Given the description of an element on the screen output the (x, y) to click on. 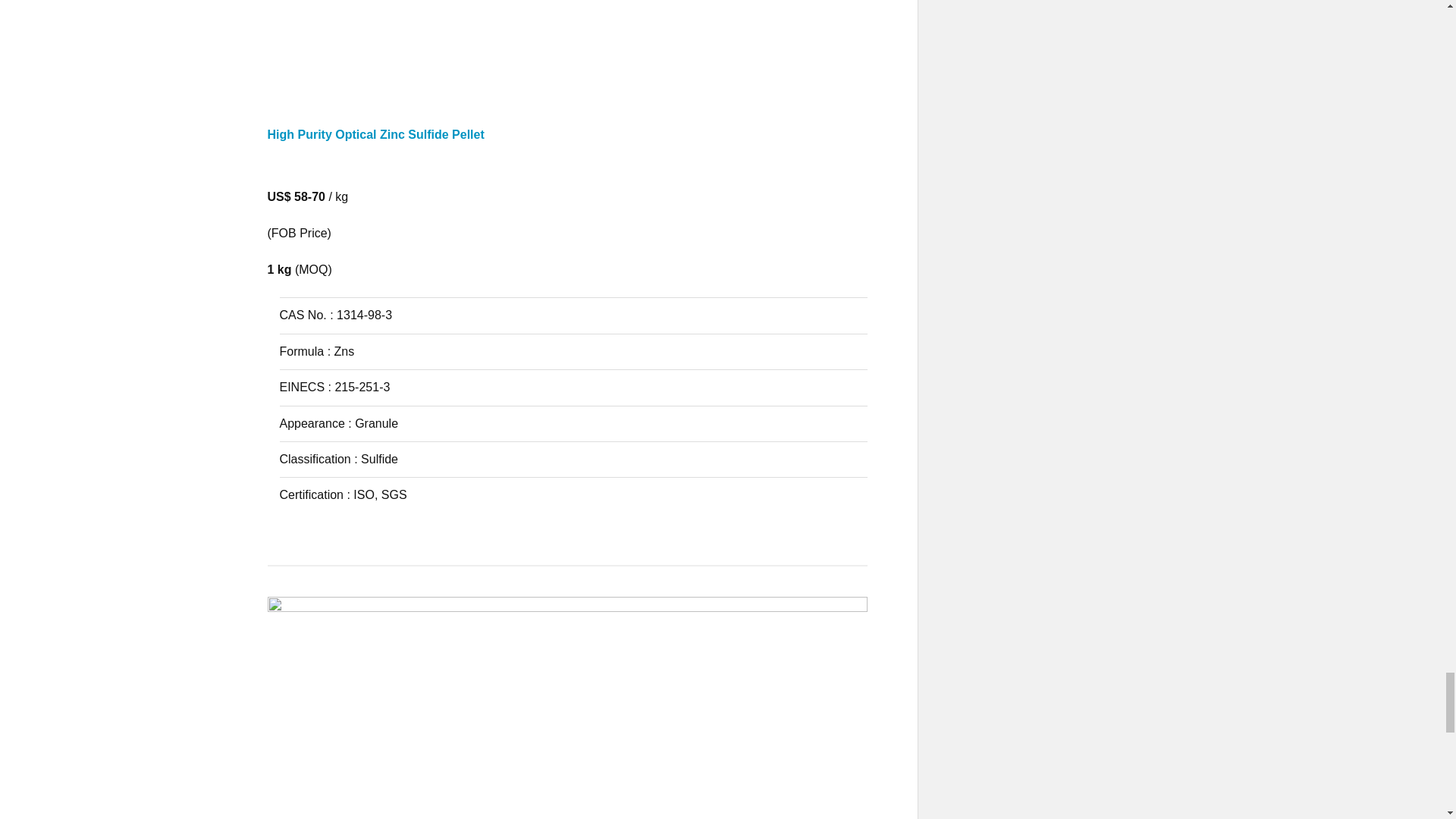
High Purity Optical Zinc Sulfide Pellet (566, 147)
